Given the description of an element on the screen output the (x, y) to click on. 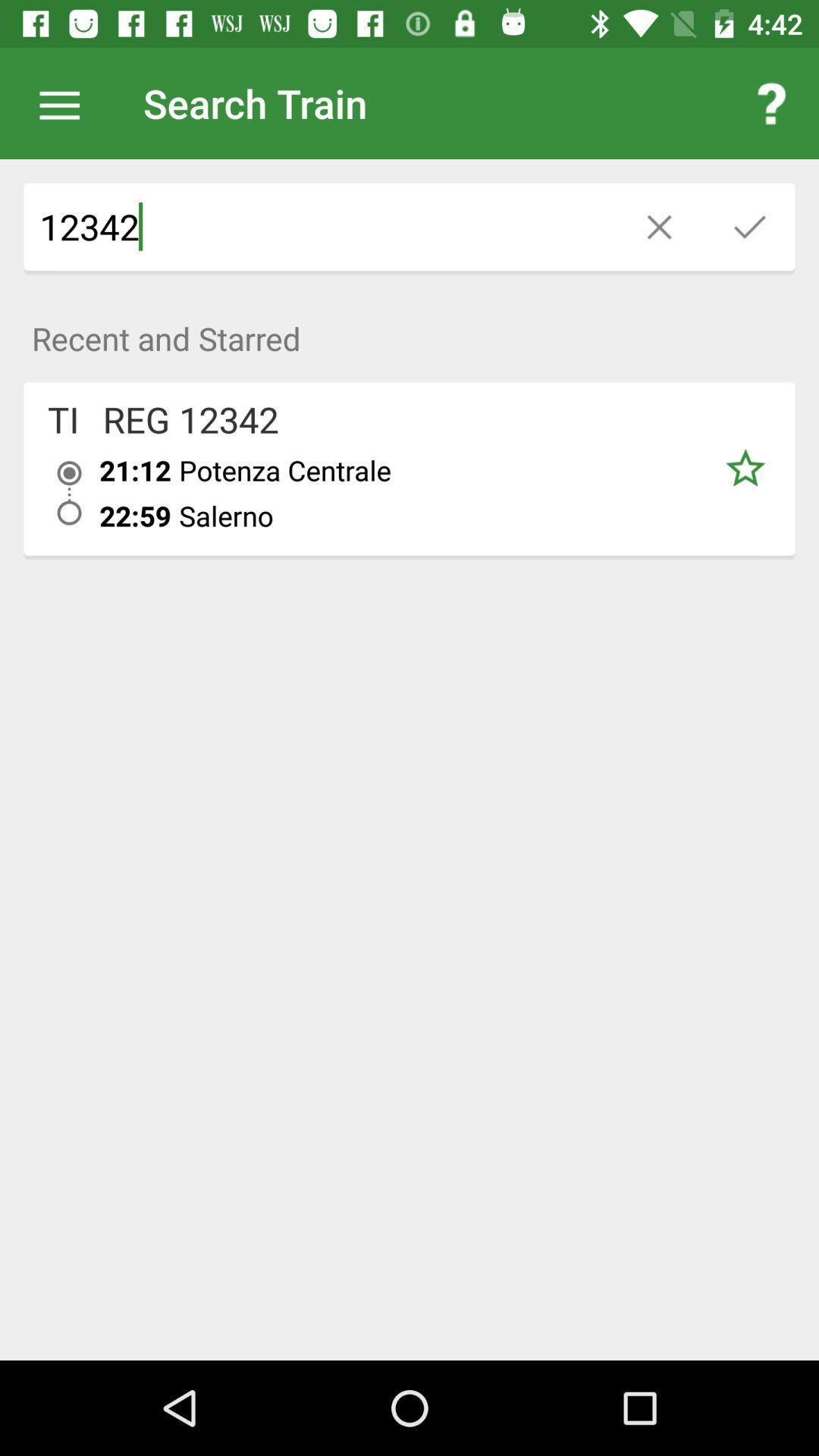
click icon next to the potenza centrale icon (135, 515)
